Given the description of an element on the screen output the (x, y) to click on. 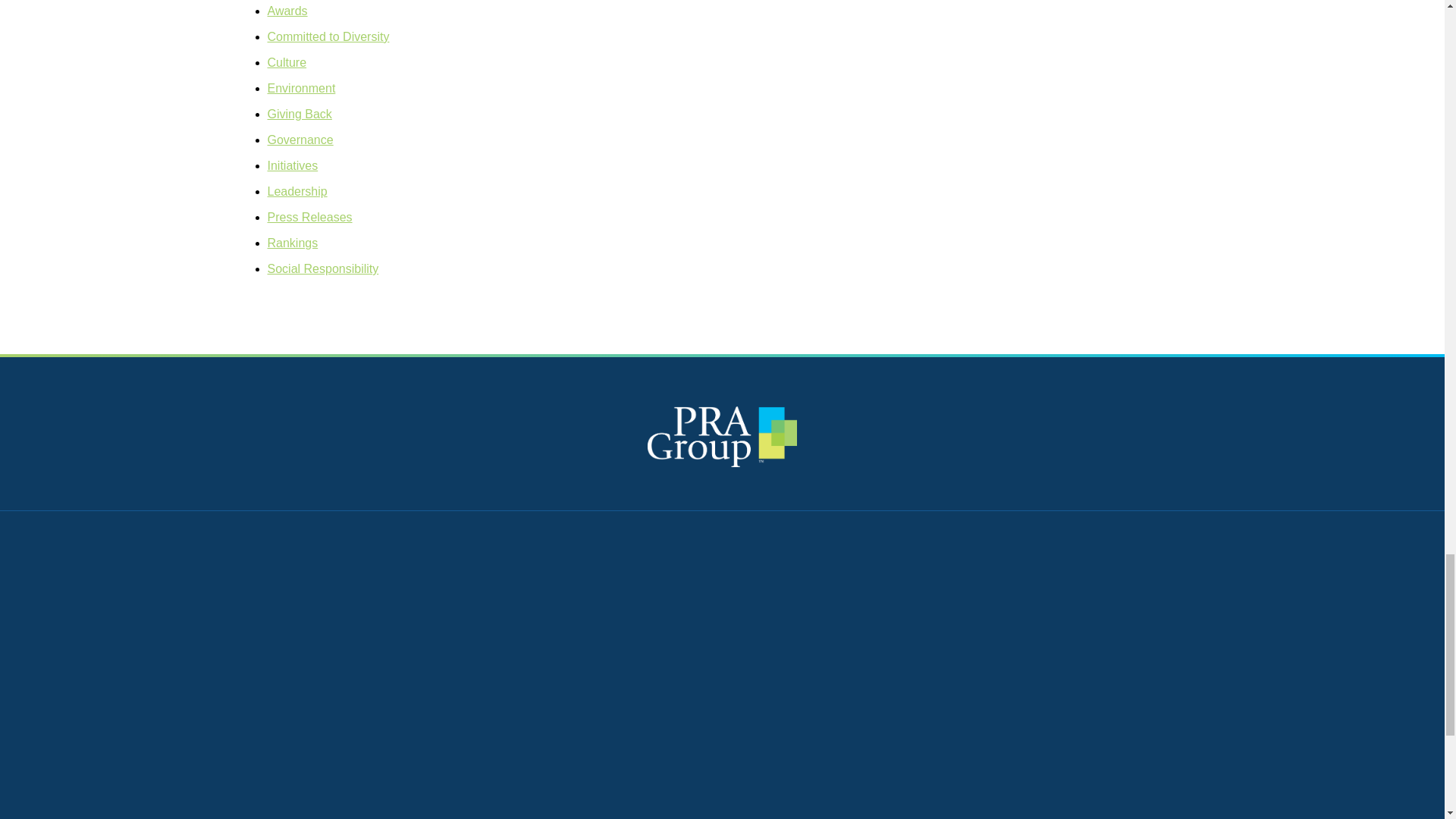
PRA Group (722, 436)
Committed to Diversity (327, 36)
Awards (286, 10)
Culture (285, 62)
Environment (300, 88)
Governance (299, 139)
Giving Back (298, 113)
